Given the description of an element on the screen output the (x, y) to click on. 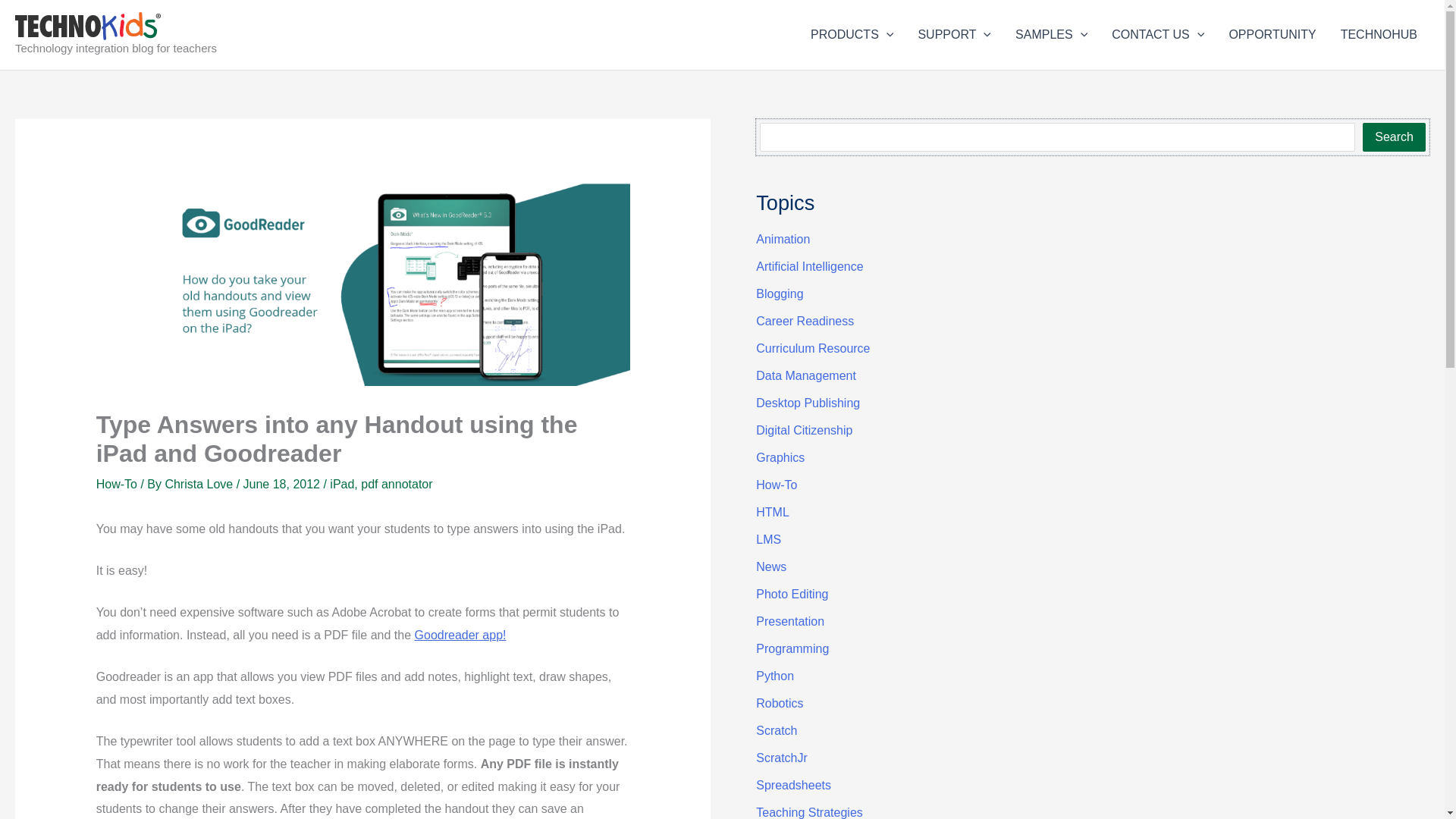
View all posts by Christa Love (199, 483)
SAMPLES (1051, 34)
SUPPORT (954, 34)
Goodreader App (460, 634)
TECHNOHUB (1378, 34)
PRODUCTS (851, 34)
OPPORTUNITY (1271, 34)
CONTACT US (1157, 34)
